Given the description of an element on the screen output the (x, y) to click on. 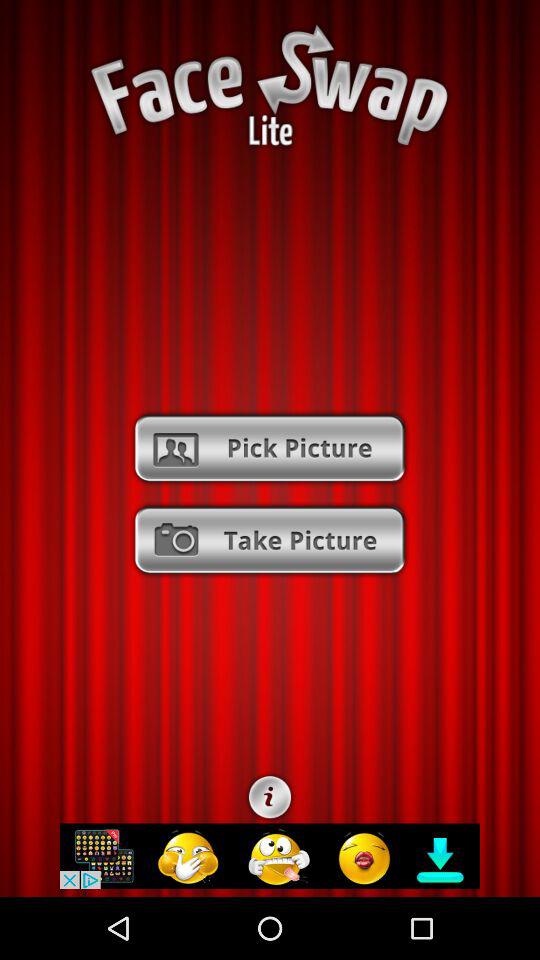
take picture (269, 540)
